Given the description of an element on the screen output the (x, y) to click on. 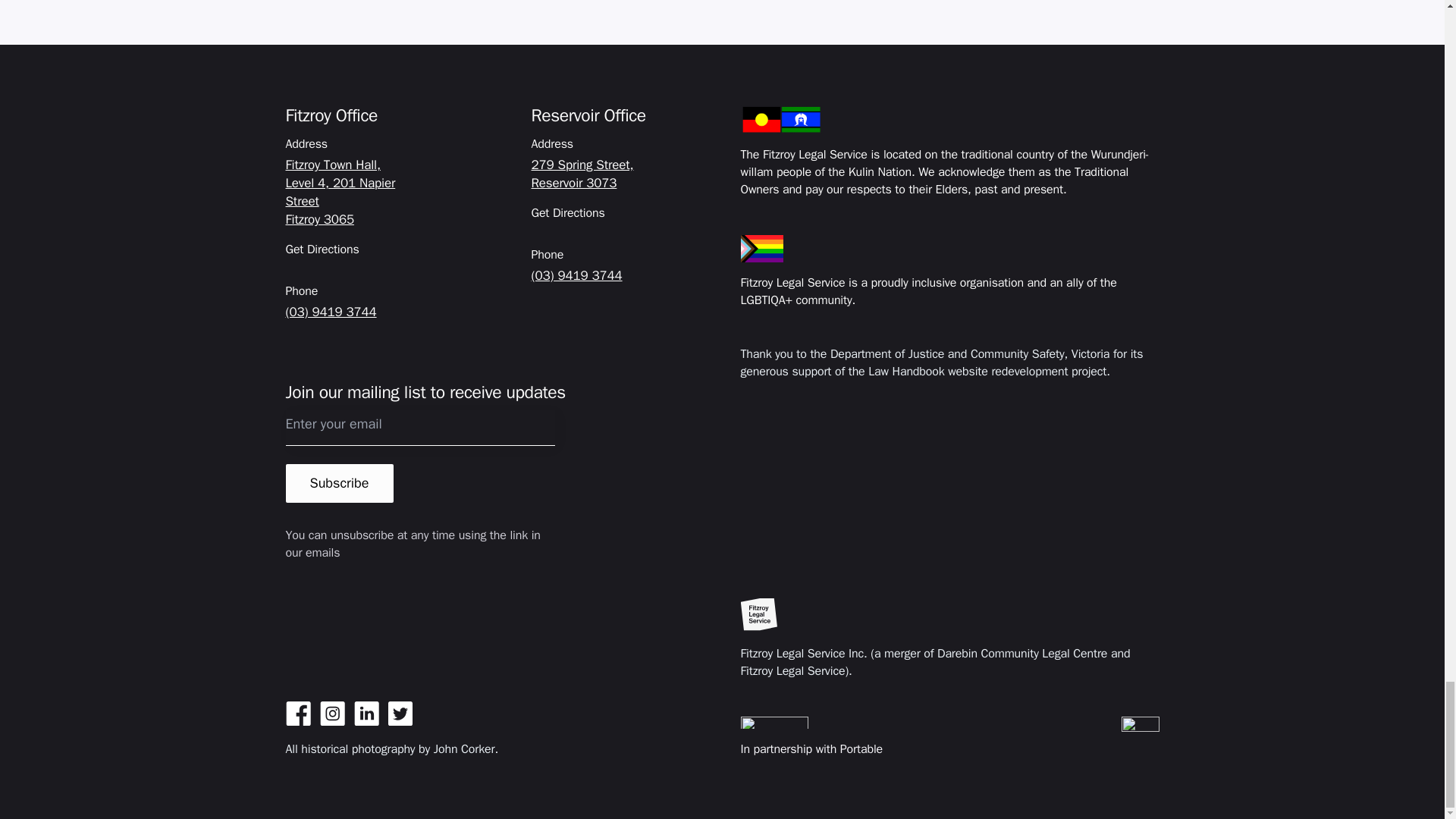
Get Directions (321, 249)
Subscribe (339, 483)
